Given the description of an element on the screen output the (x, y) to click on. 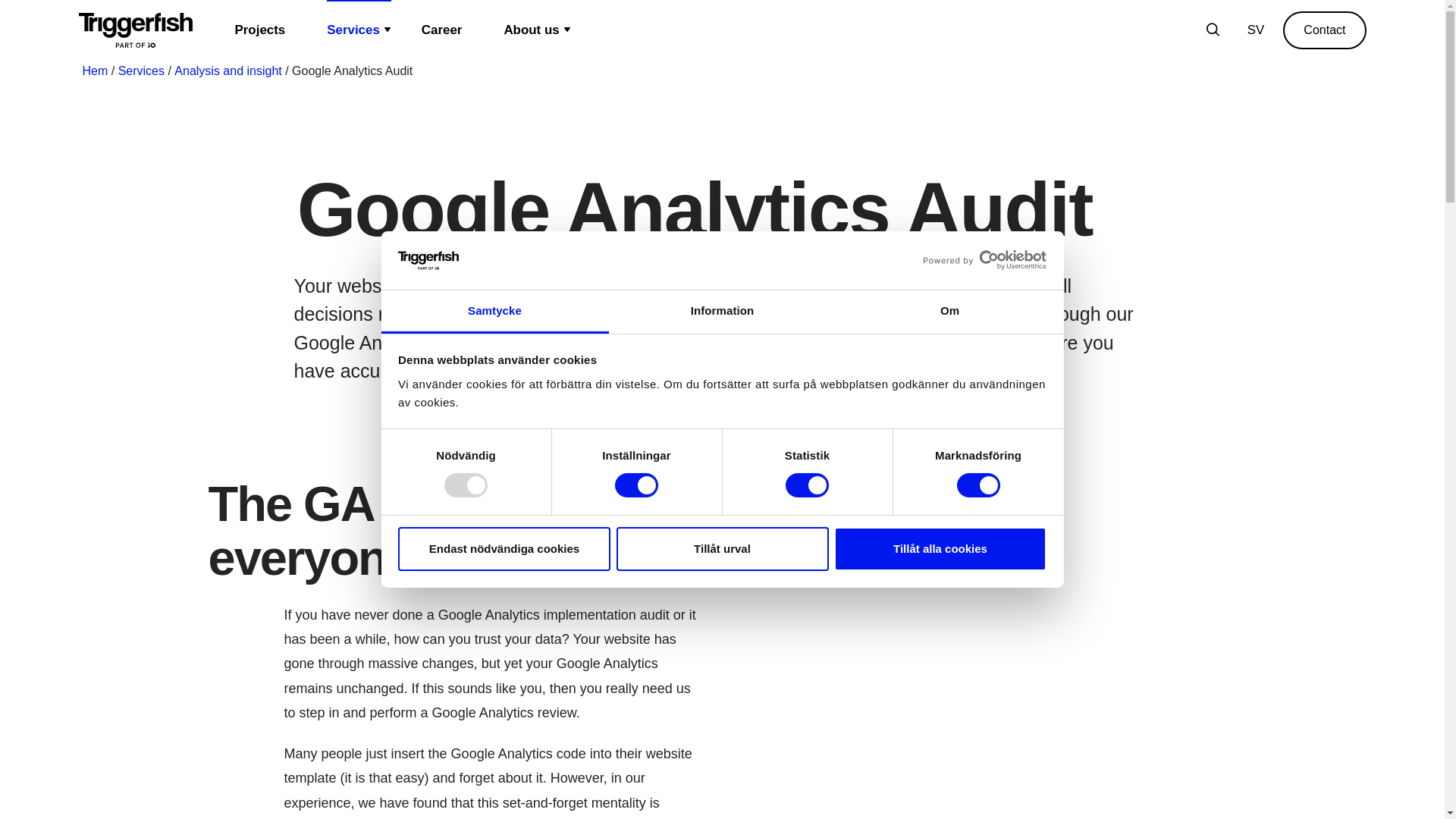
Samtycke (494, 311)
Triggerfish (135, 30)
Information (721, 311)
Services (358, 30)
Om (948, 311)
Projects (265, 30)
